Given the description of an element on the screen output the (x, y) to click on. 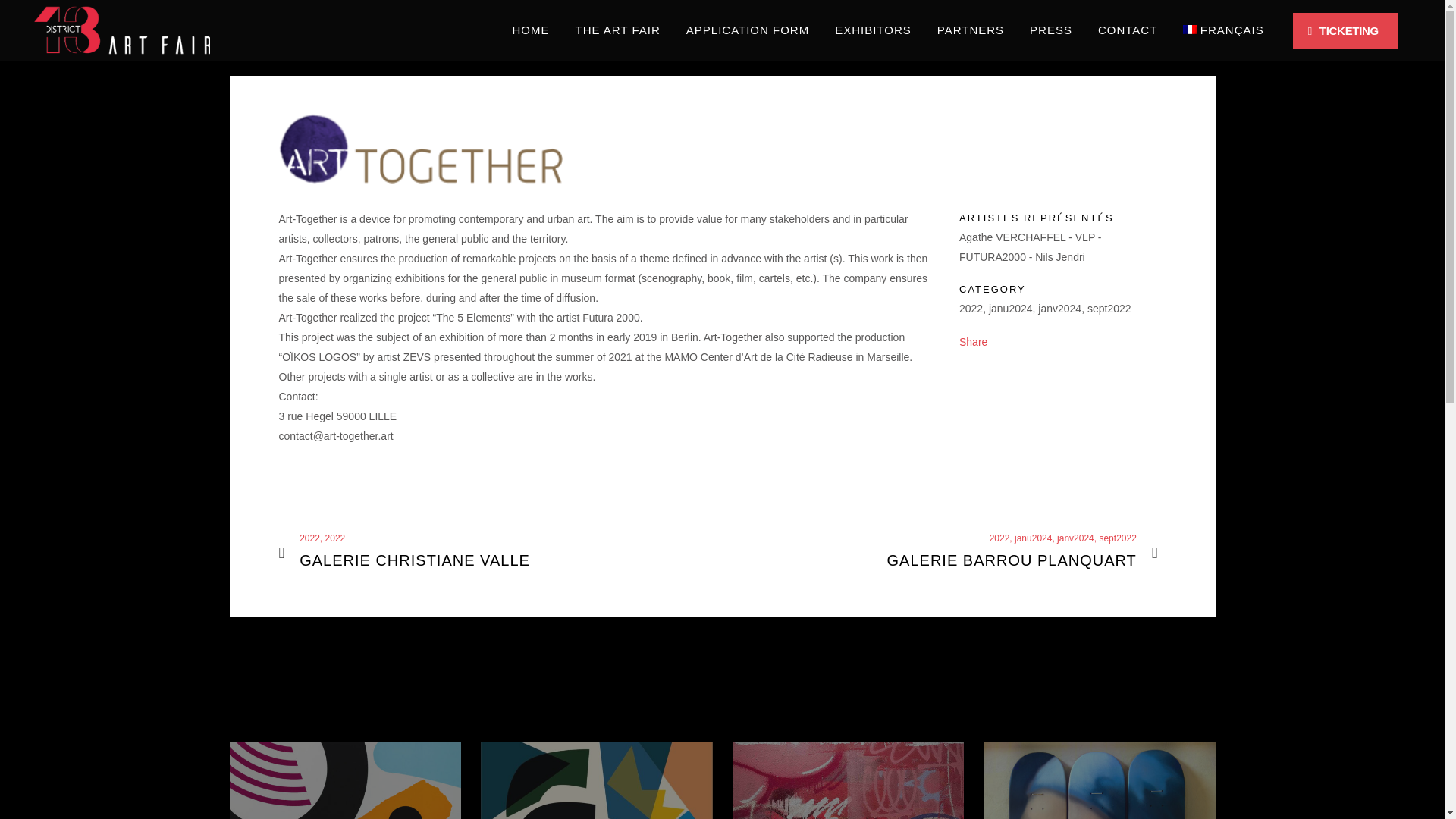
EXHIBITORS (873, 30)
TICKETING (1344, 29)
Share (973, 341)
APPLICATION FORM (747, 30)
PRESS (1050, 30)
PARTNERS (970, 30)
HOME (530, 30)
THE ART FAIR (404, 552)
CONTACT (617, 30)
